Given the description of an element on the screen output the (x, y) to click on. 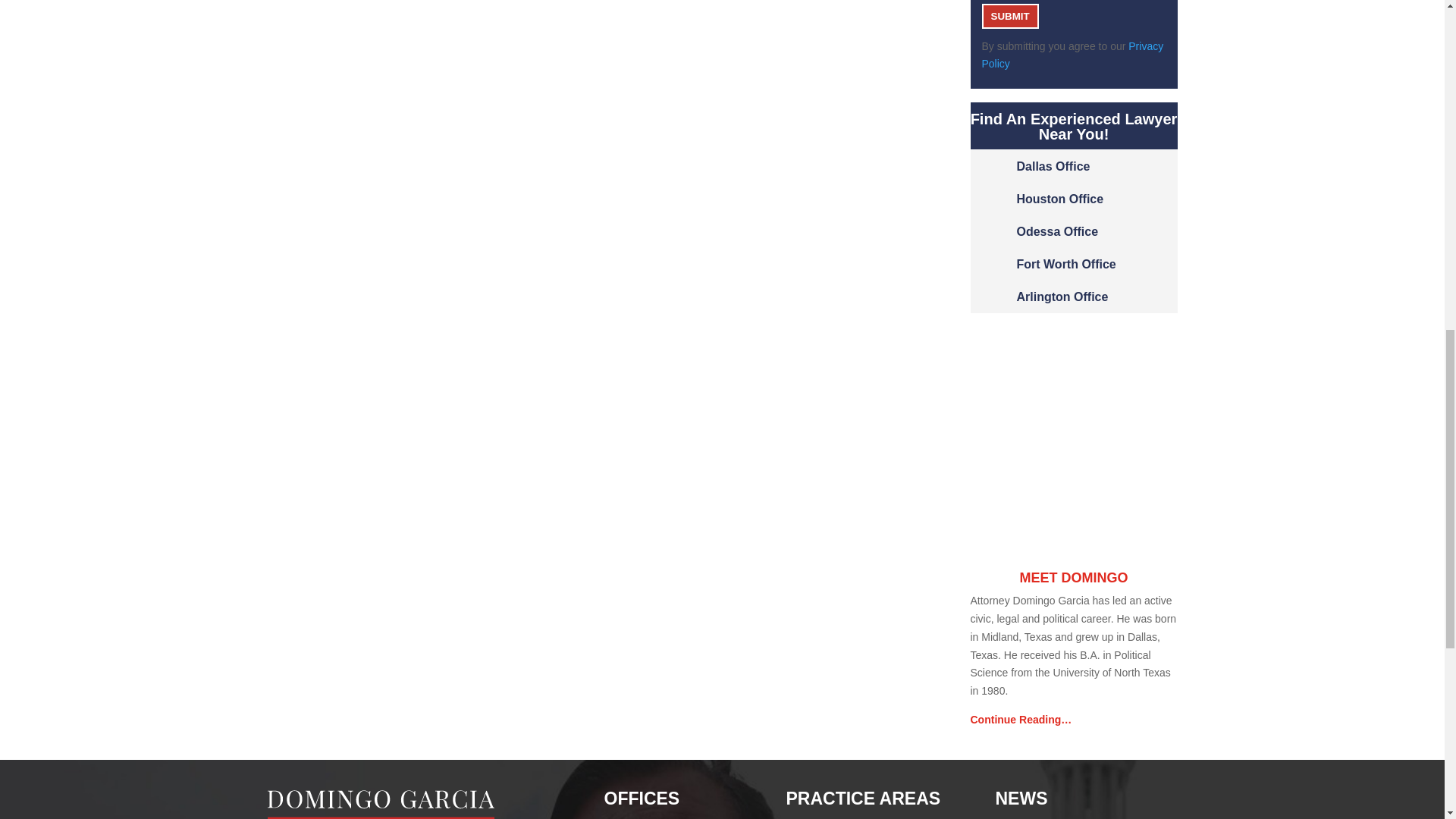
logo (380, 804)
Submit (1009, 16)
Privacy Policy (1072, 55)
